Given the description of an element on the screen output the (x, y) to click on. 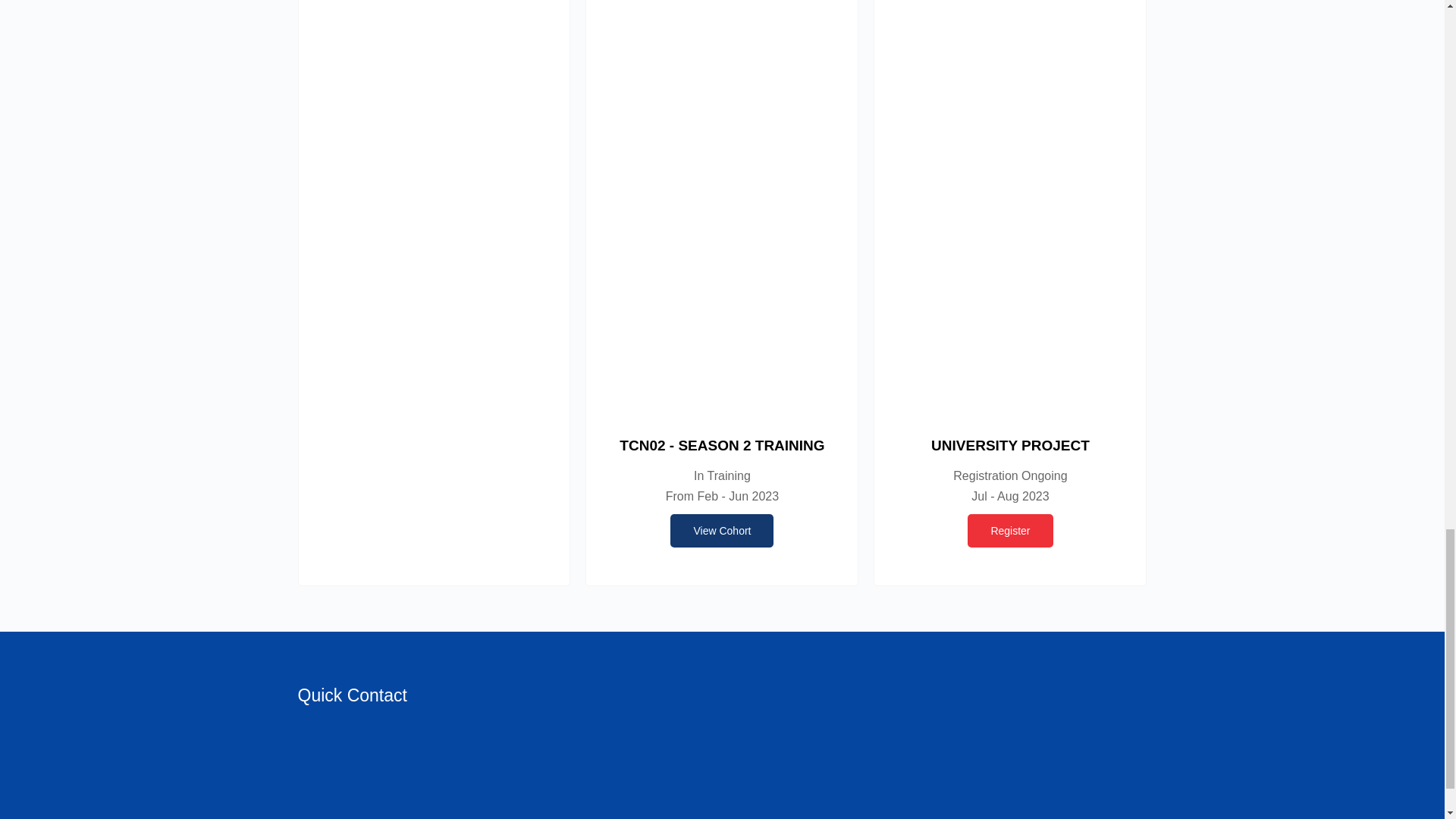
Register (1010, 530)
View Cohort (721, 530)
